Given the description of an element on the screen output the (x, y) to click on. 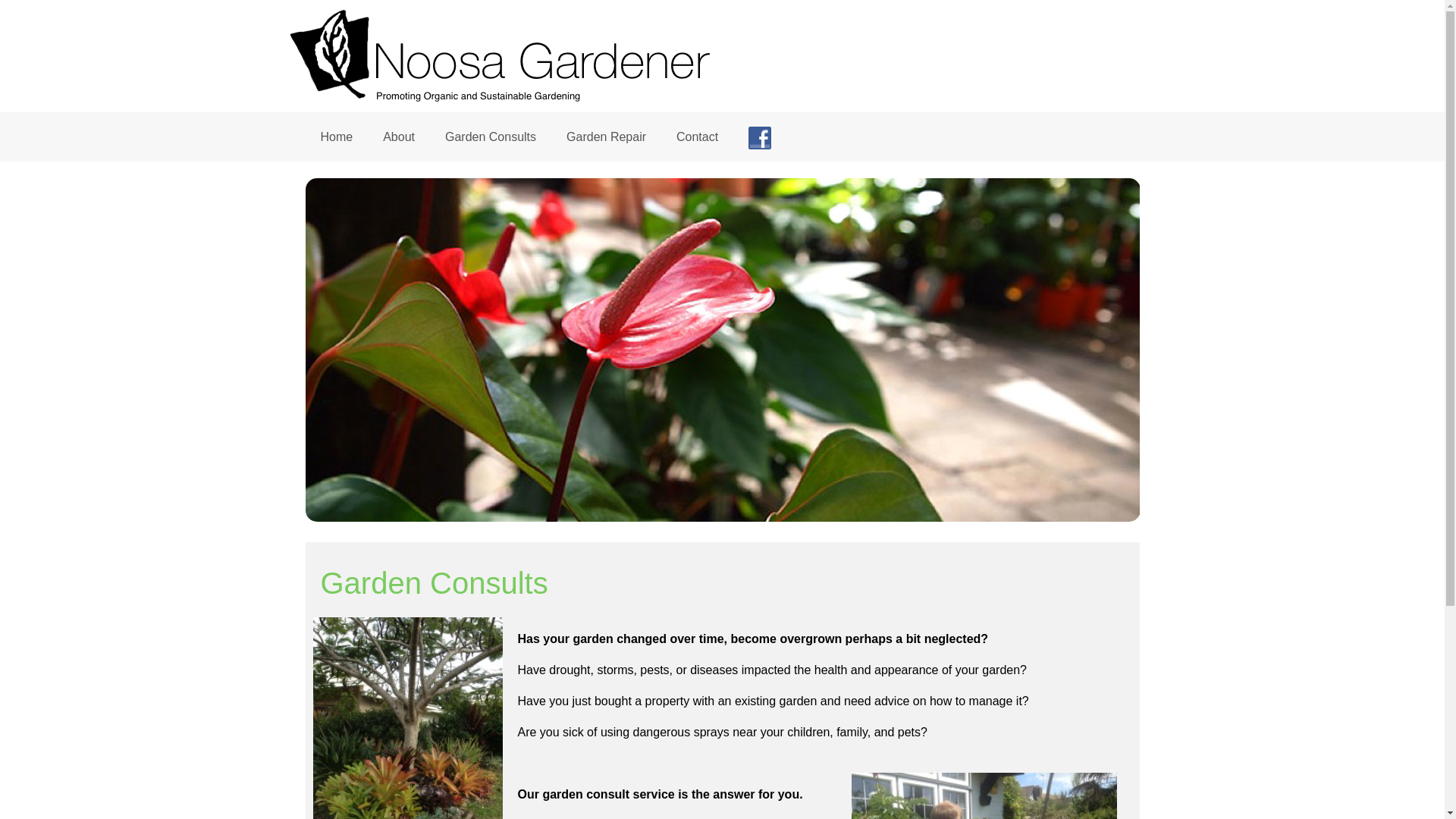
Garden Consults Element type: text (490, 136)
Garden Repair Element type: text (606, 136)
Noosa Gardener Element type: hover (531, 95)
Follow Phillip on Facebook Element type: hover (759, 136)
Contact Element type: text (697, 136)
About Element type: text (398, 136)
Noosa Gardener Element type: hover (531, 56)
Home Element type: text (335, 136)
